Given the description of an element on the screen output the (x, y) to click on. 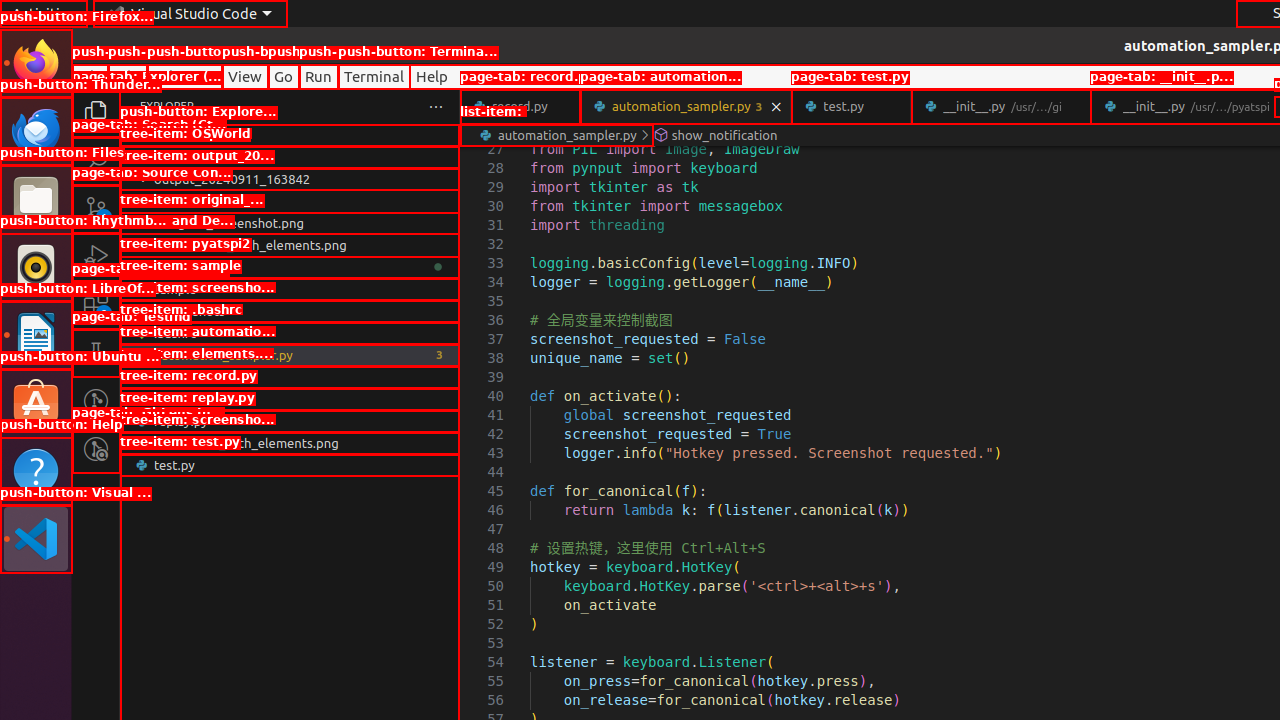
Edit Element type: push-button (127, 76)
automation_sampler.py Element type: page-tab (686, 106)
replay.py Element type: tree-item (289, 421)
pyatspi2 Element type: tree-item (289, 267)
record.py Element type: page-tab (520, 106)
